Given the description of an element on the screen output the (x, y) to click on. 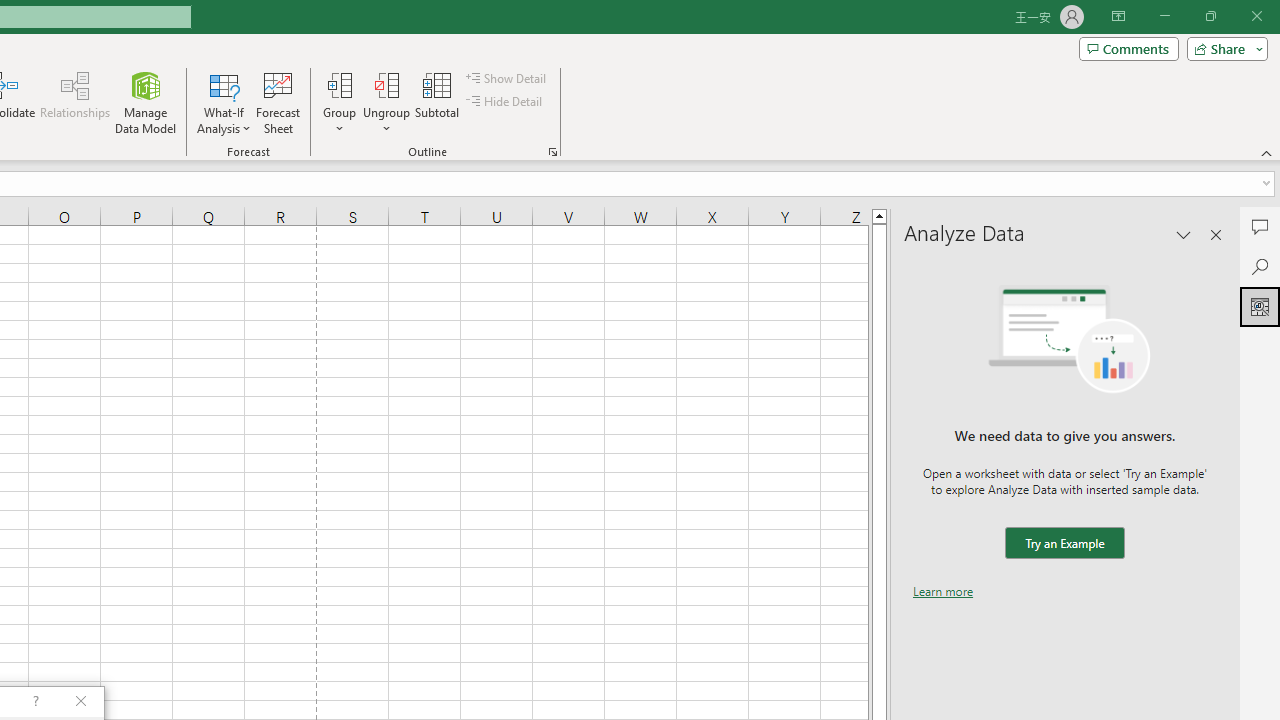
Relationships (75, 102)
Show Detail (507, 78)
Group and Outline Settings (552, 151)
Subtotal (437, 102)
